Given the description of an element on the screen output the (x, y) to click on. 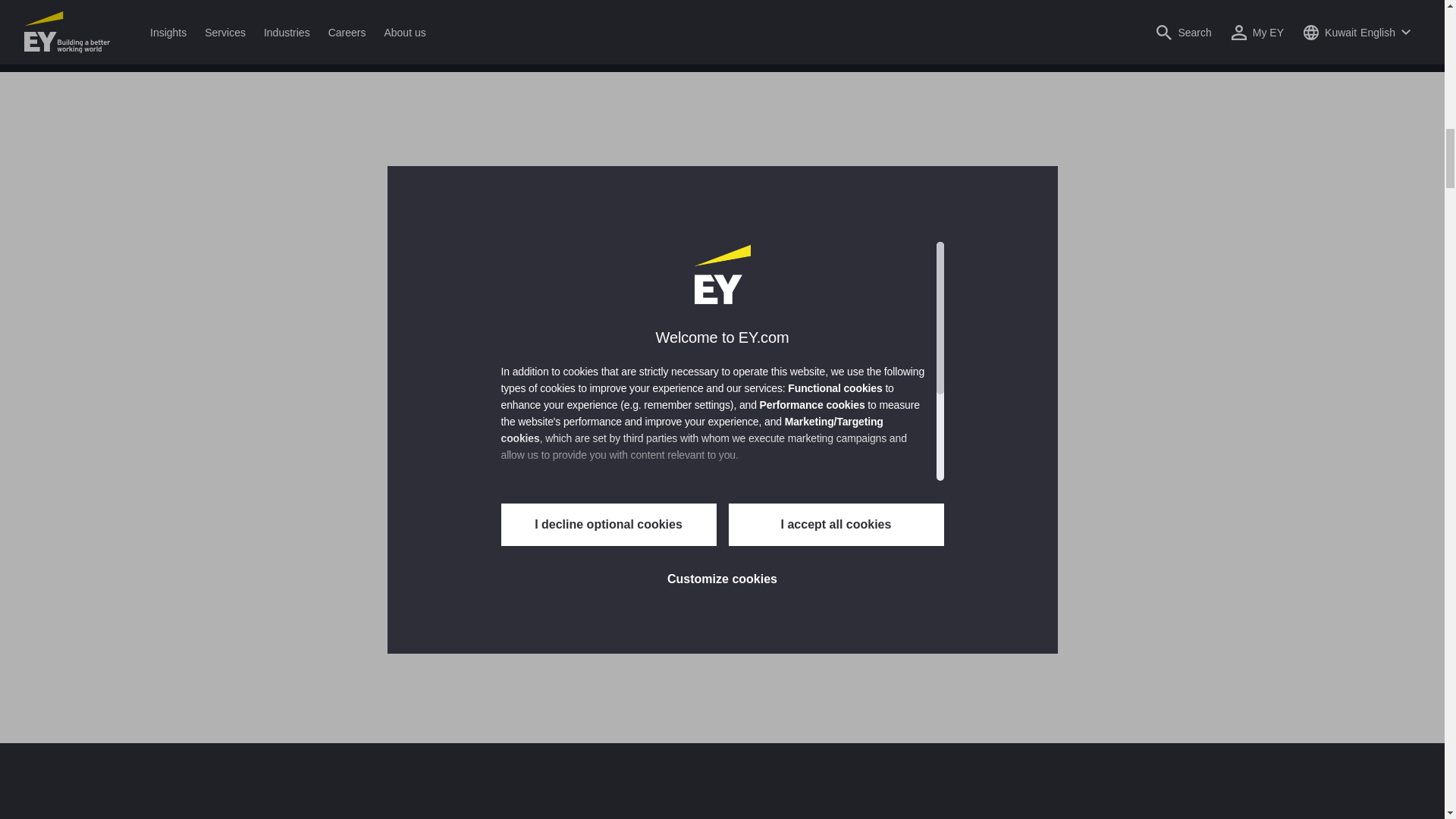
Play Video (721, 191)
